Given the description of an element on the screen output the (x, y) to click on. 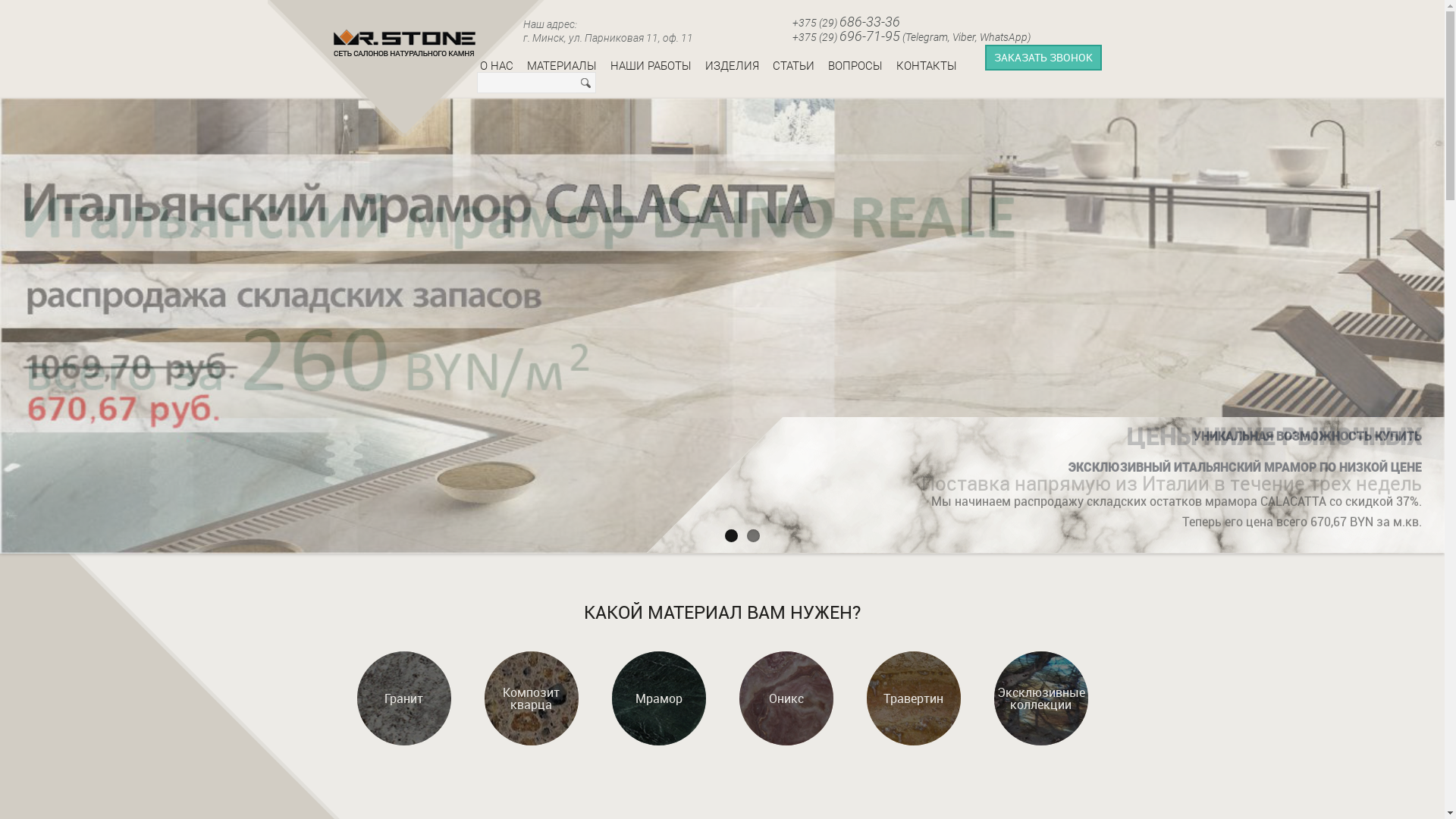
1 Element type: text (730, 535)
2 Element type: text (752, 535)
